Given the description of an element on the screen output the (x, y) to click on. 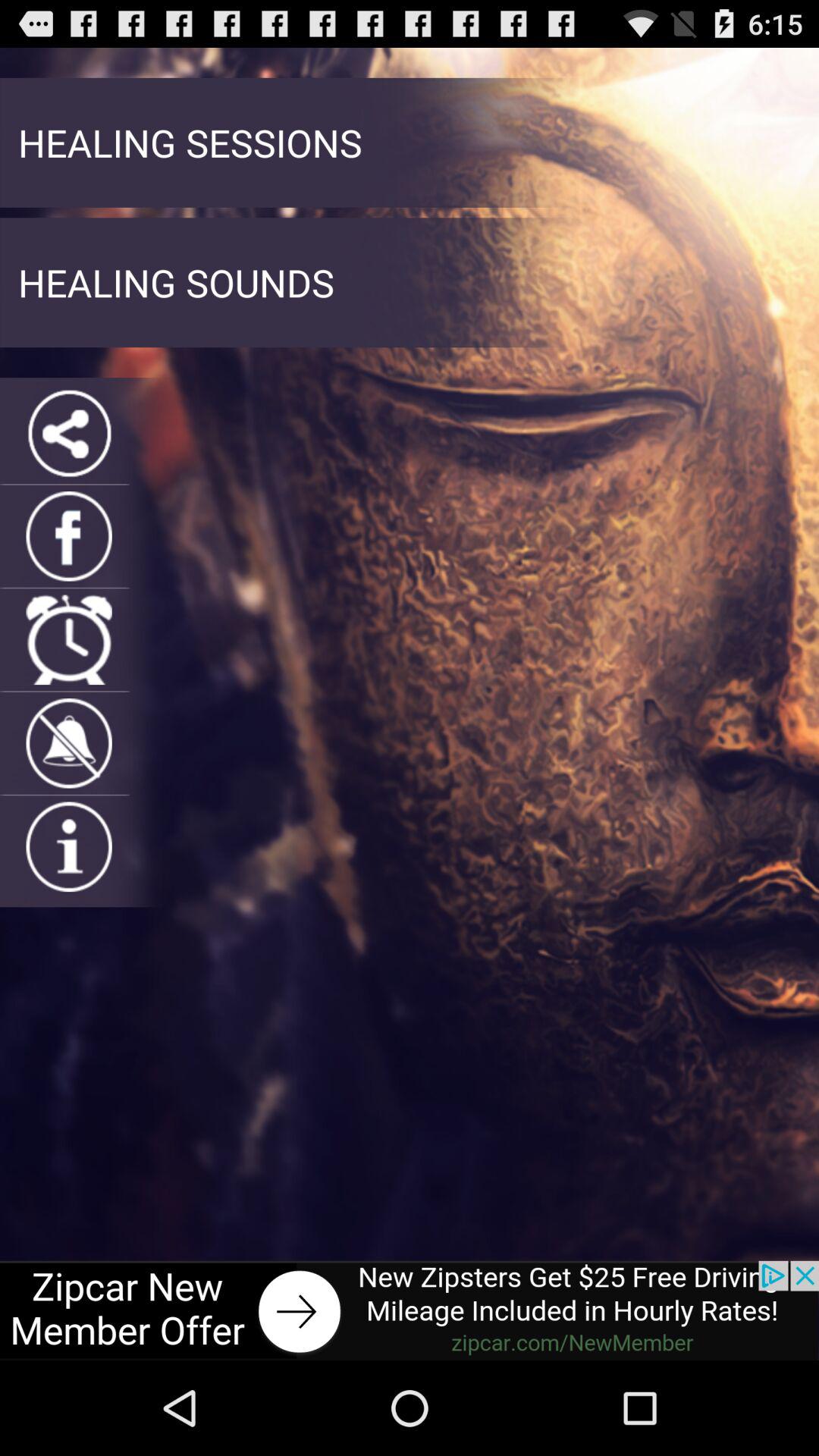
share with others (69, 432)
